Given the description of an element on the screen output the (x, y) to click on. 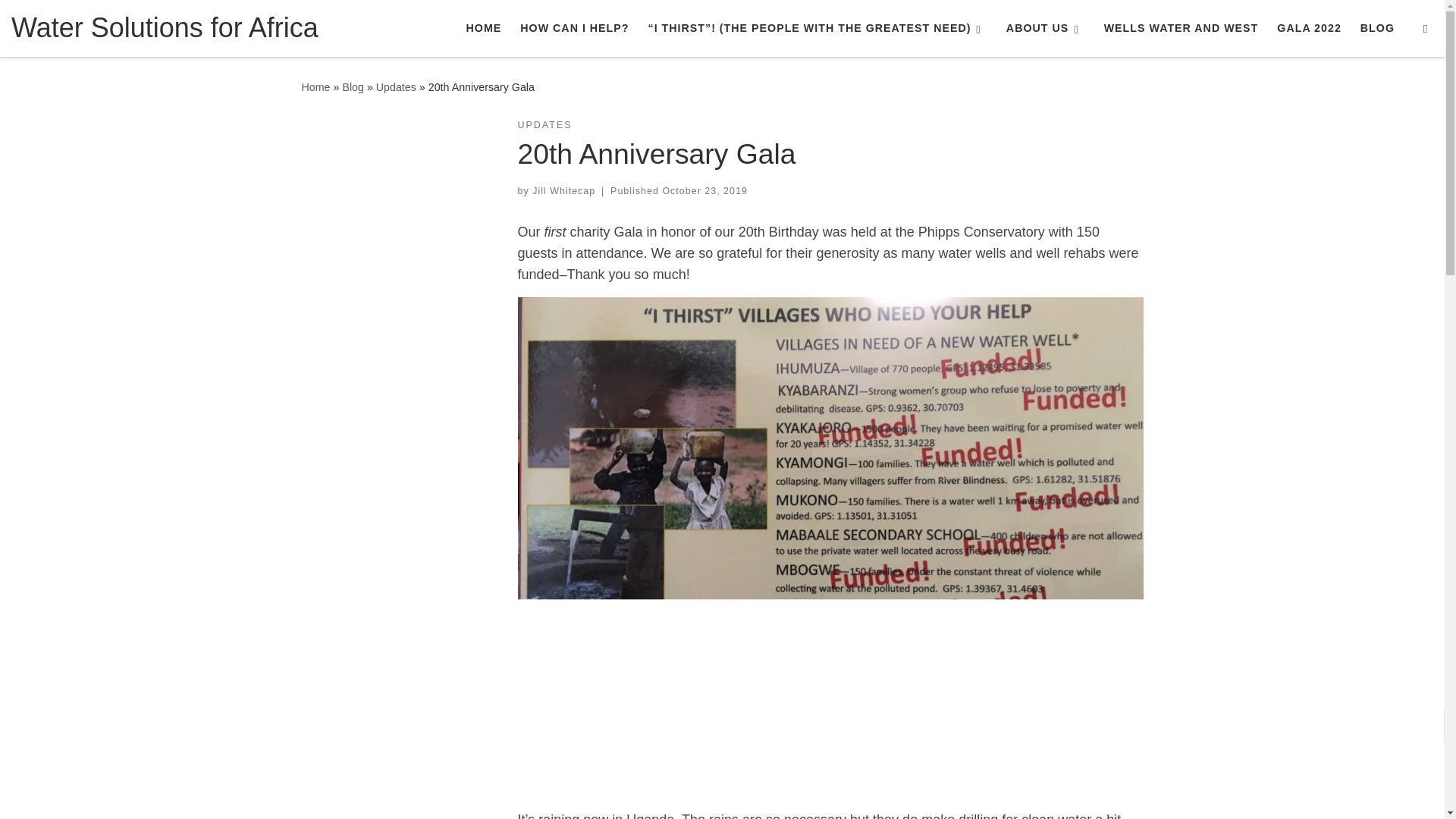
UPDATES (544, 124)
View all posts by Jill Whitecap (563, 190)
Water Solutions for Africa (315, 87)
WELLS WATER AND WEST (1180, 28)
ABOUT US (1045, 28)
6:50 pm (704, 190)
Updates (395, 87)
View all posts in Updates (544, 124)
HOME (483, 28)
Blog (353, 87)
BLOG (1377, 28)
Home (315, 87)
Skip to content (60, 20)
Water Solutions for Africa (164, 27)
Updates (395, 87)
